Given the description of an element on the screen output the (x, y) to click on. 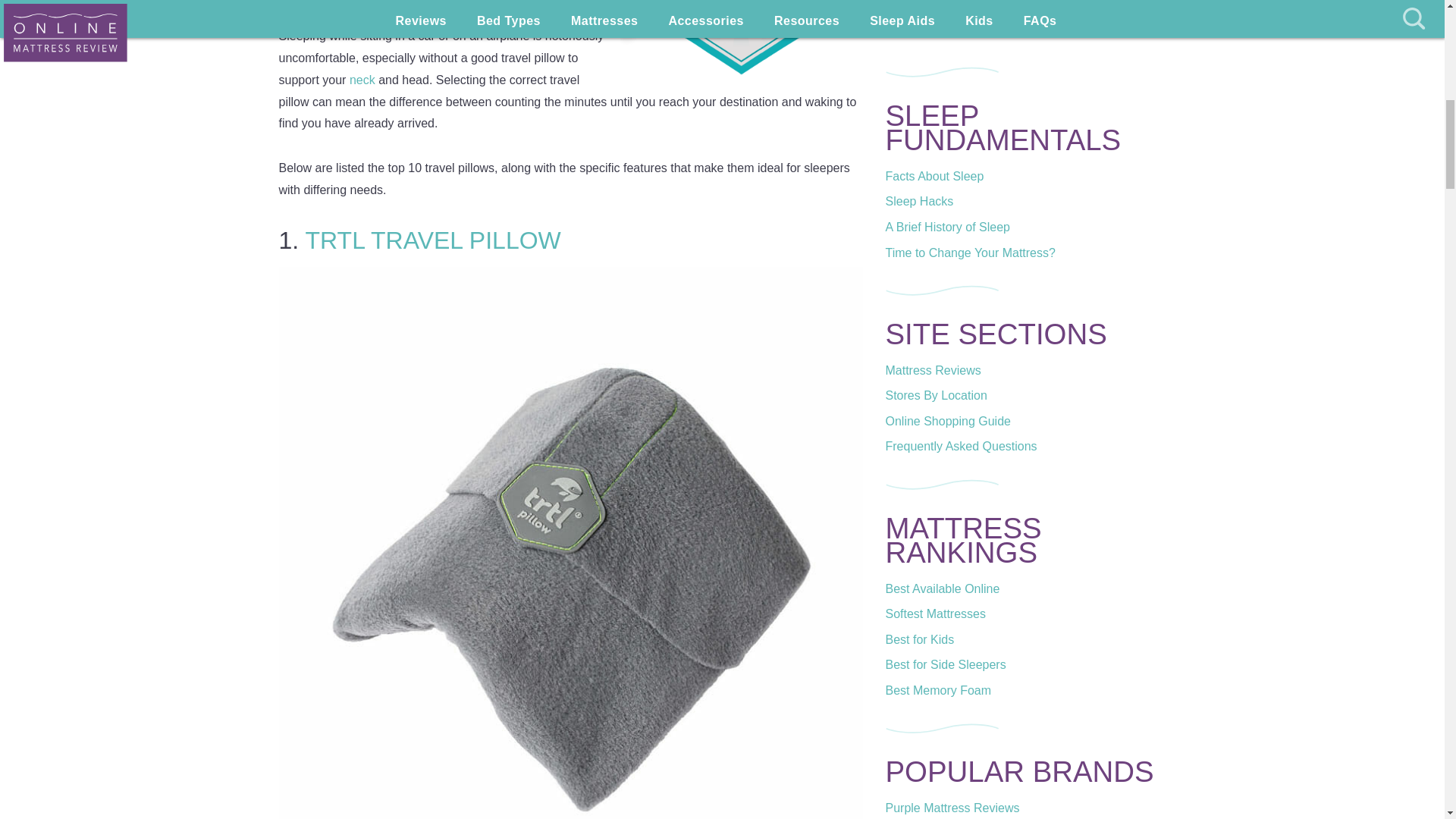
neck (363, 79)
TRTL TRAVEL PILLOW (432, 239)
